Given the description of an element on the screen output the (x, y) to click on. 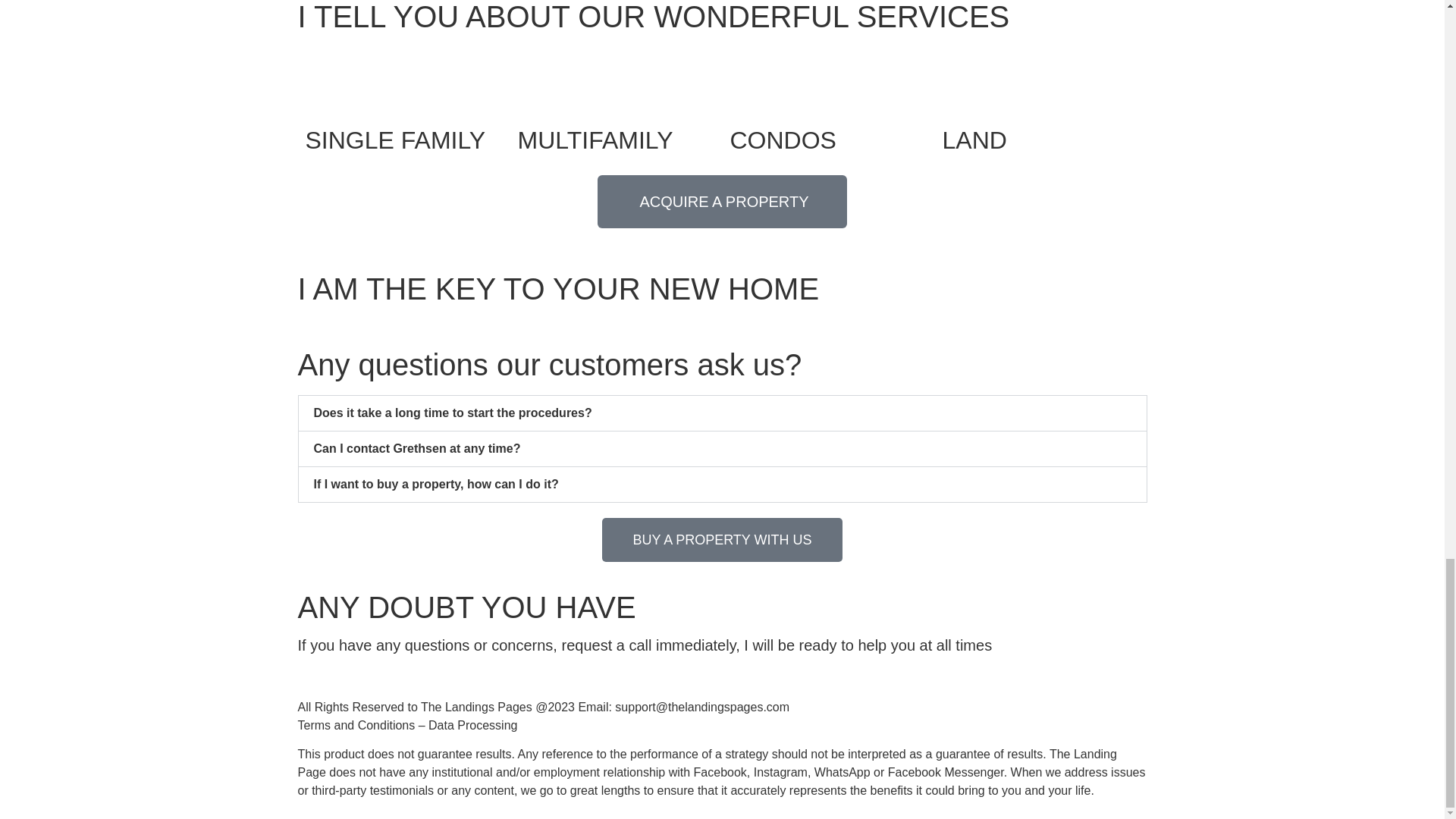
Can I contact Grethsen at any time? (417, 448)
BUY A PROPERTY WITH US (721, 539)
ACQUIRE A PROPERTY (720, 201)
Does it take a long time to start the procedures? (453, 412)
If I want to buy a property, how can I do it? (436, 483)
